Given the description of an element on the screen output the (x, y) to click on. 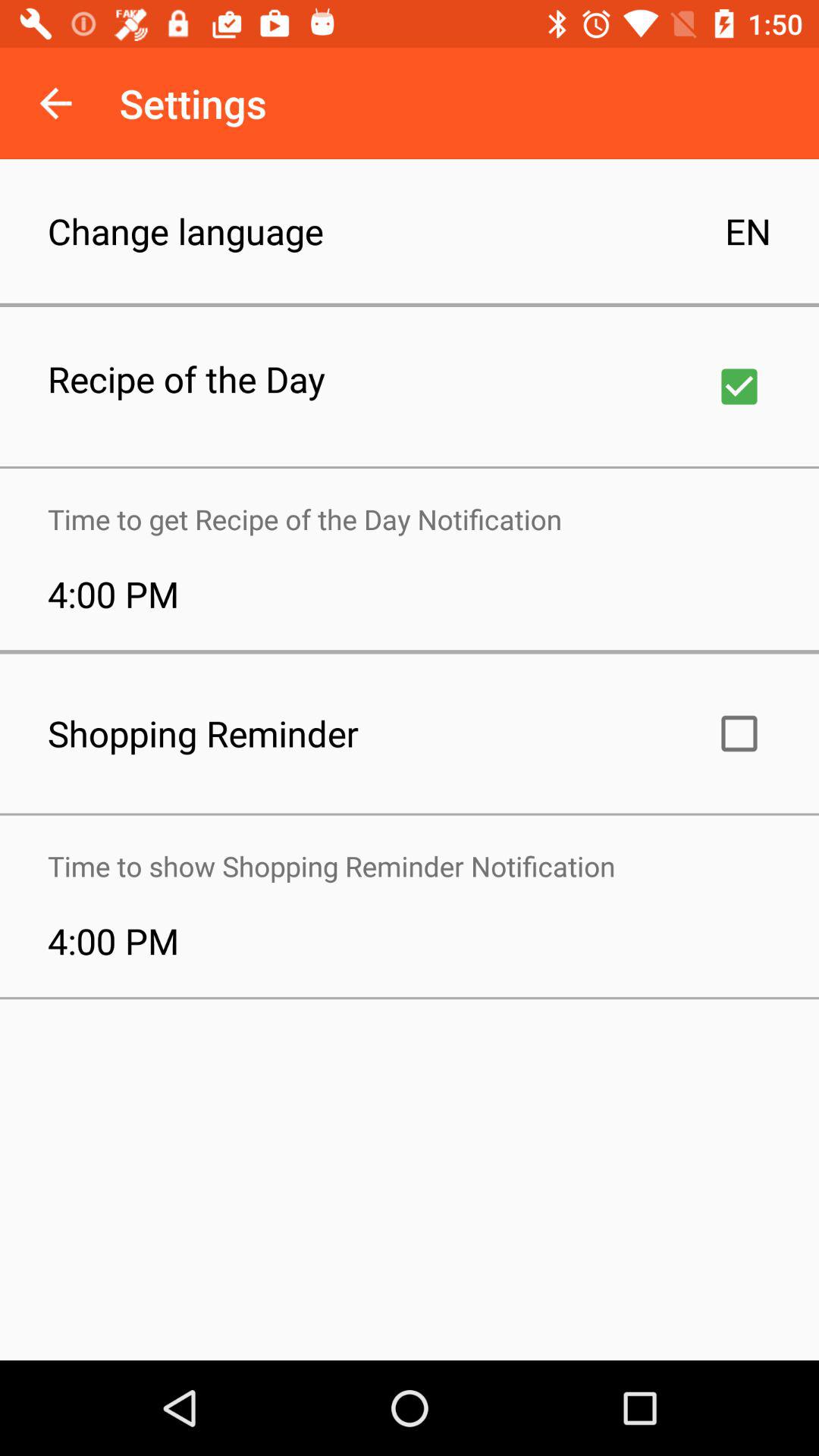
toggle receipe of the day option (739, 386)
